Given the description of an element on the screen output the (x, y) to click on. 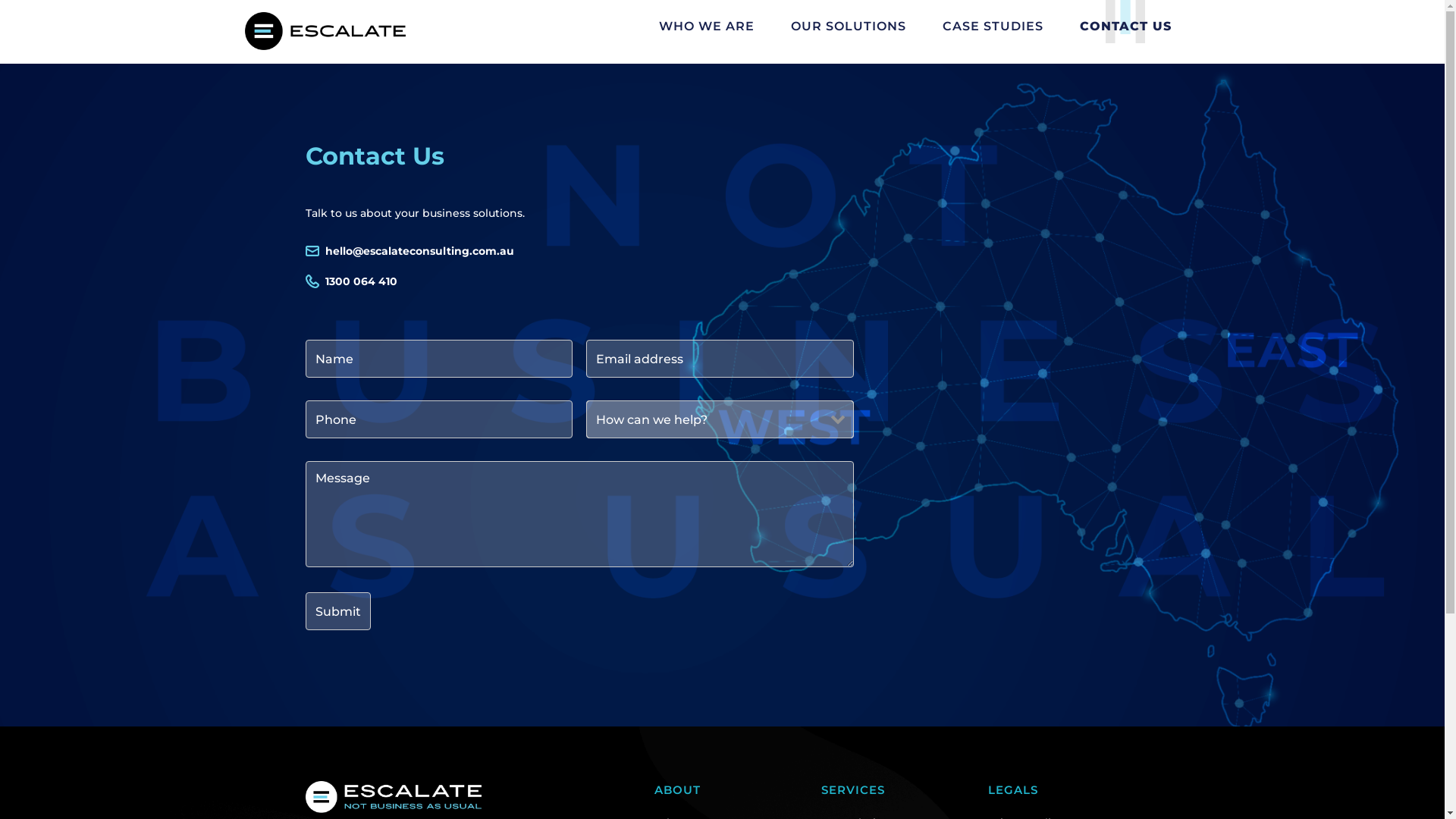
OUR SOLUTIONS Element type: text (847, 26)
1300 064 410 Element type: text (360, 281)
Submit Element type: text (337, 611)
hello@escalateconsulting.com.au Element type: text (418, 250)
CASE STUDIES Element type: text (991, 26)
WHO WE ARE Element type: text (705, 26)
CONTACT US Element type: text (1125, 26)
